Given the description of an element on the screen output the (x, y) to click on. 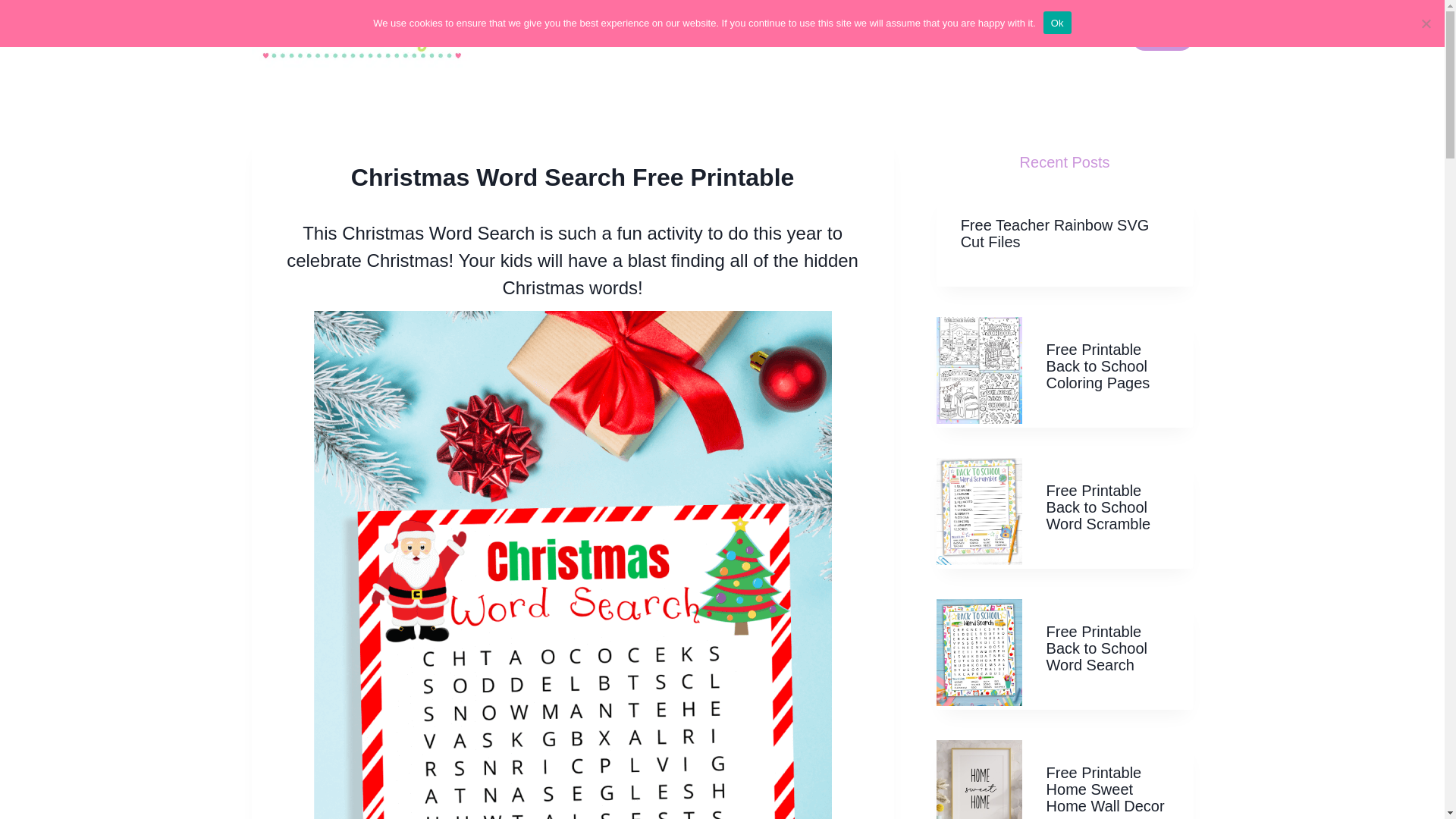
No (1425, 23)
LOGIN (1162, 36)
Printables (763, 36)
About (1054, 36)
Celebrations (964, 36)
SVG Files (860, 36)
